Given the description of an element on the screen output the (x, y) to click on. 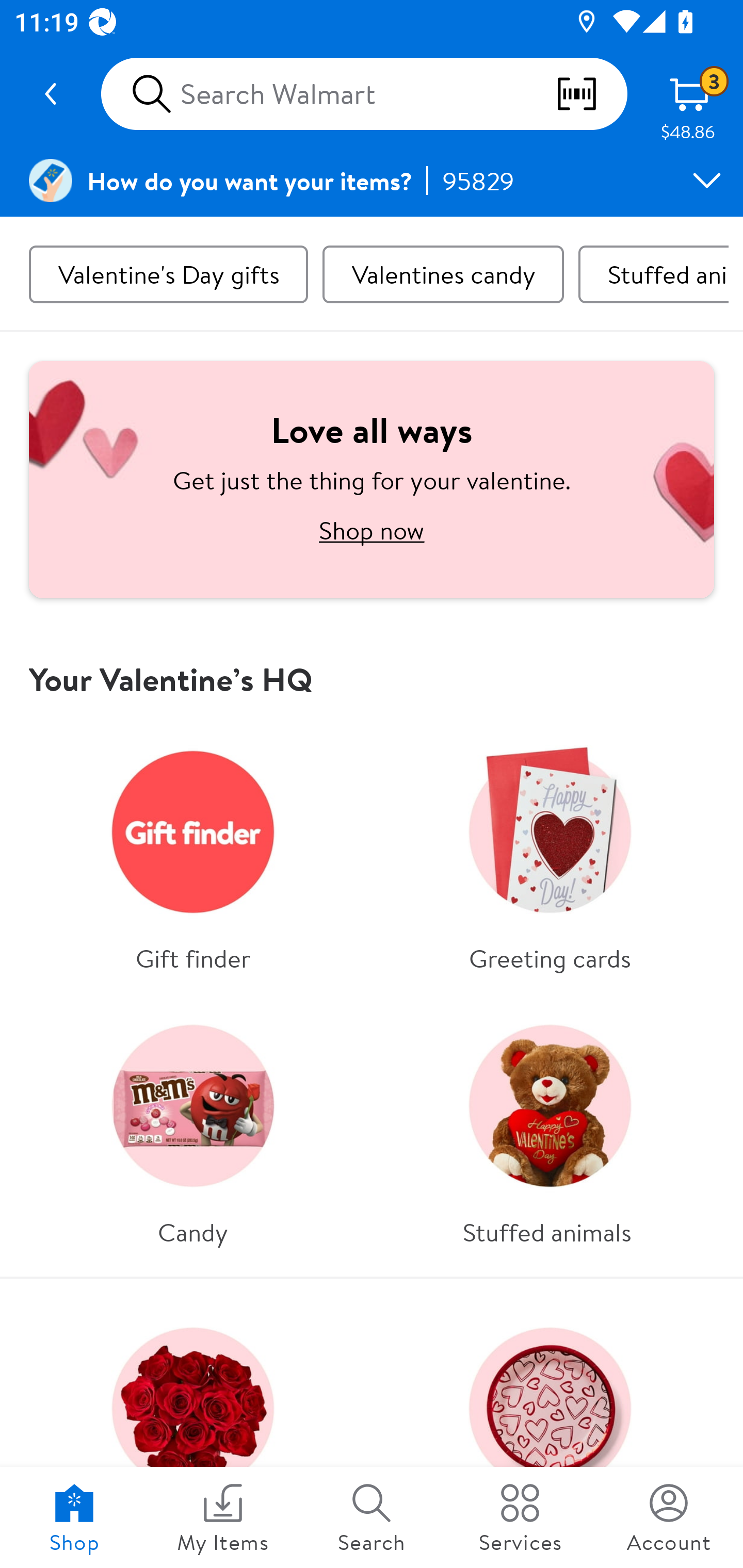
Navigate up (50, 93)
Search Walmart scan barcodes qr codes and more (364, 94)
scan barcodes qr codes and more (591, 94)
Valentine's Day gifts (168, 274)
Valentines candy (442, 274)
Stuffed animals (653, 274)
Shop now (371, 529)
Gift finder (192, 852)
Greeting cards (549, 852)
Candy (192, 1127)
Stuffed animals  (549, 1127)
Flowers (192, 1429)
Party supplies (549, 1429)
My Items (222, 1517)
Search (371, 1517)
Services (519, 1517)
Account (668, 1517)
